Given the description of an element on the screen output the (x, y) to click on. 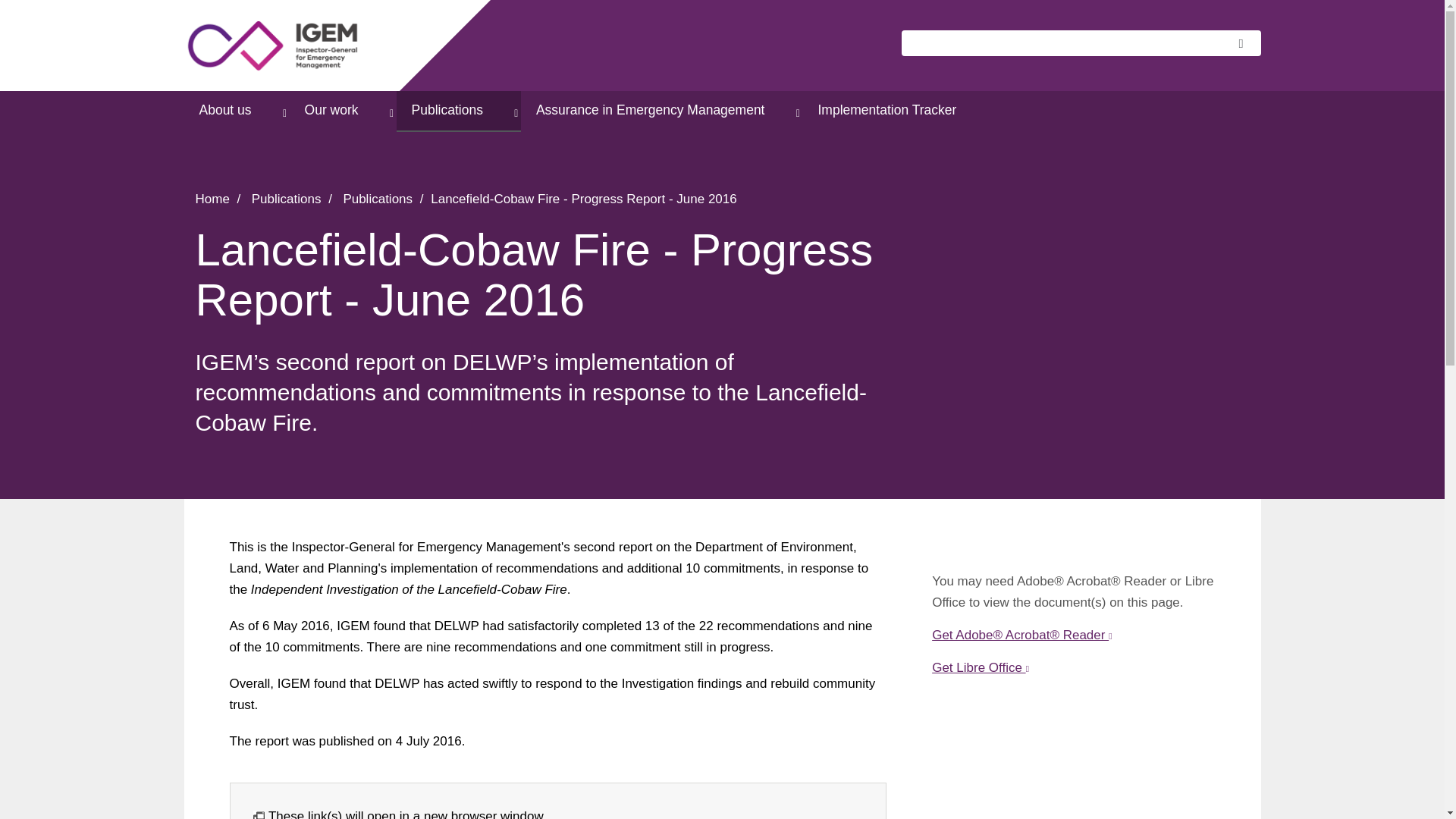
Download Libre Office (984, 667)
Our work (342, 110)
Publications (458, 110)
About us (235, 110)
Search (1245, 43)
Home (282, 45)
Download Adobe Acrobat Reader (1026, 635)
Assurance in Emergency Management (662, 110)
